Given the description of an element on the screen output the (x, y) to click on. 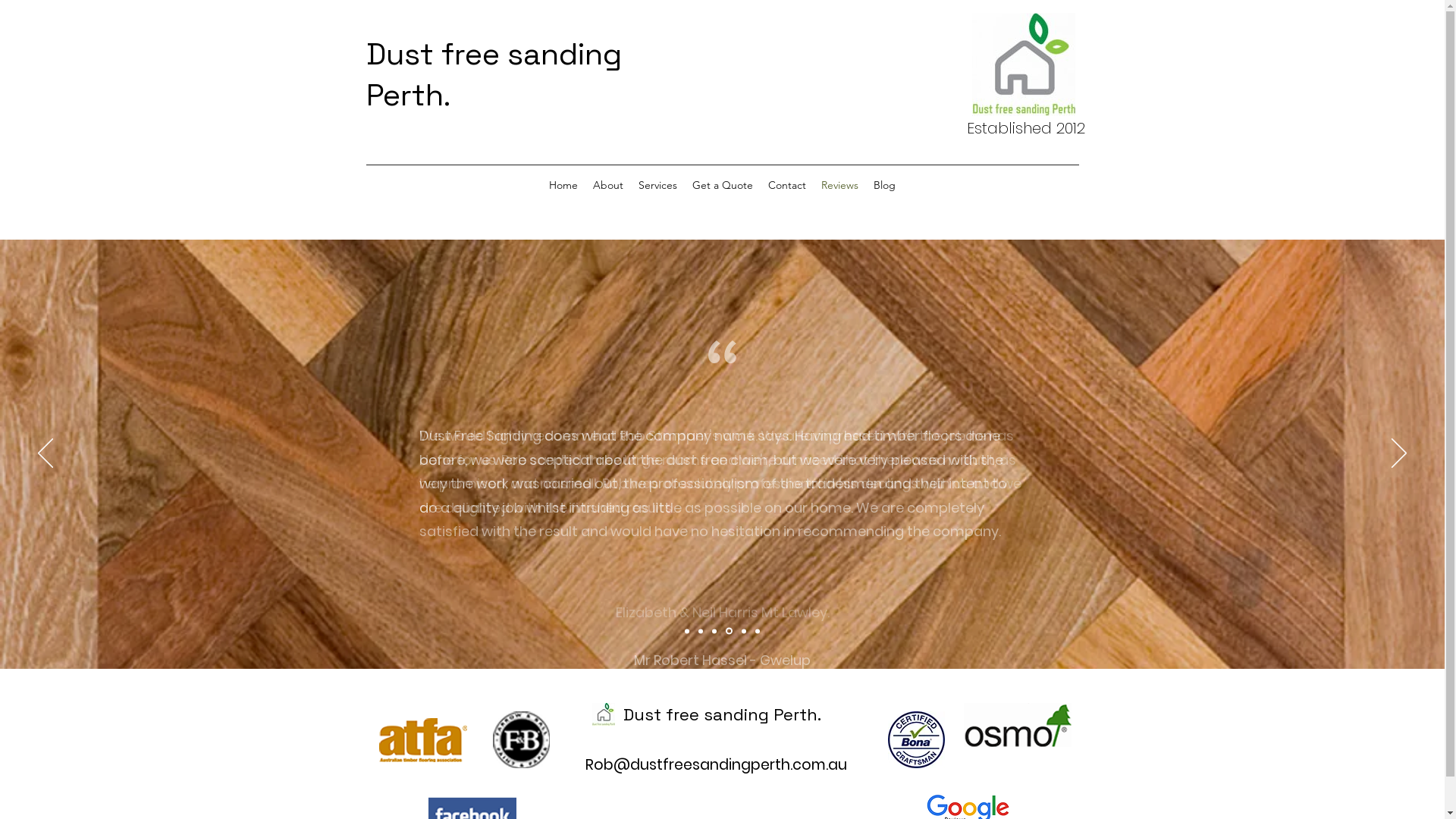
Blog Element type: text (884, 184)
Contact Element type: text (786, 184)
Get a Quote Element type: text (722, 184)
Reviews Element type: text (839, 184)
Rob@dustfreesandingperth.com.au Element type: text (716, 764)
Services Element type: text (657, 184)
Home Element type: text (563, 184)
About Element type: text (607, 184)
